Given the description of an element on the screen output the (x, y) to click on. 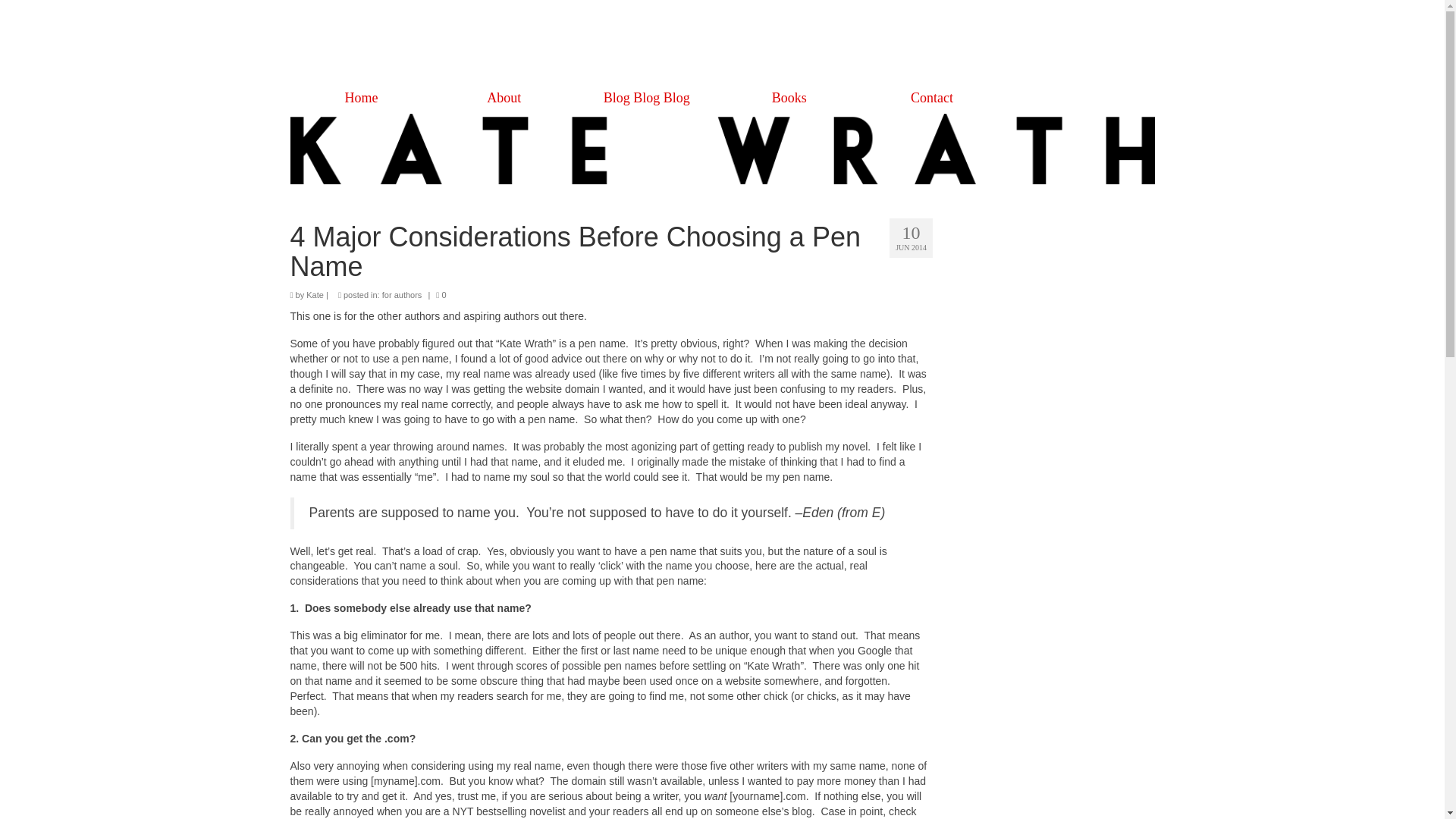
Home (589, 59)
Blog Blog Blog (718, 59)
Contact (851, 59)
Blog Blog Blog (646, 97)
Contact (931, 97)
Books (788, 97)
Kate (314, 294)
About (644, 59)
Home (360, 97)
Books (792, 59)
for authors (401, 294)
About (503, 97)
